Given the description of an element on the screen output the (x, y) to click on. 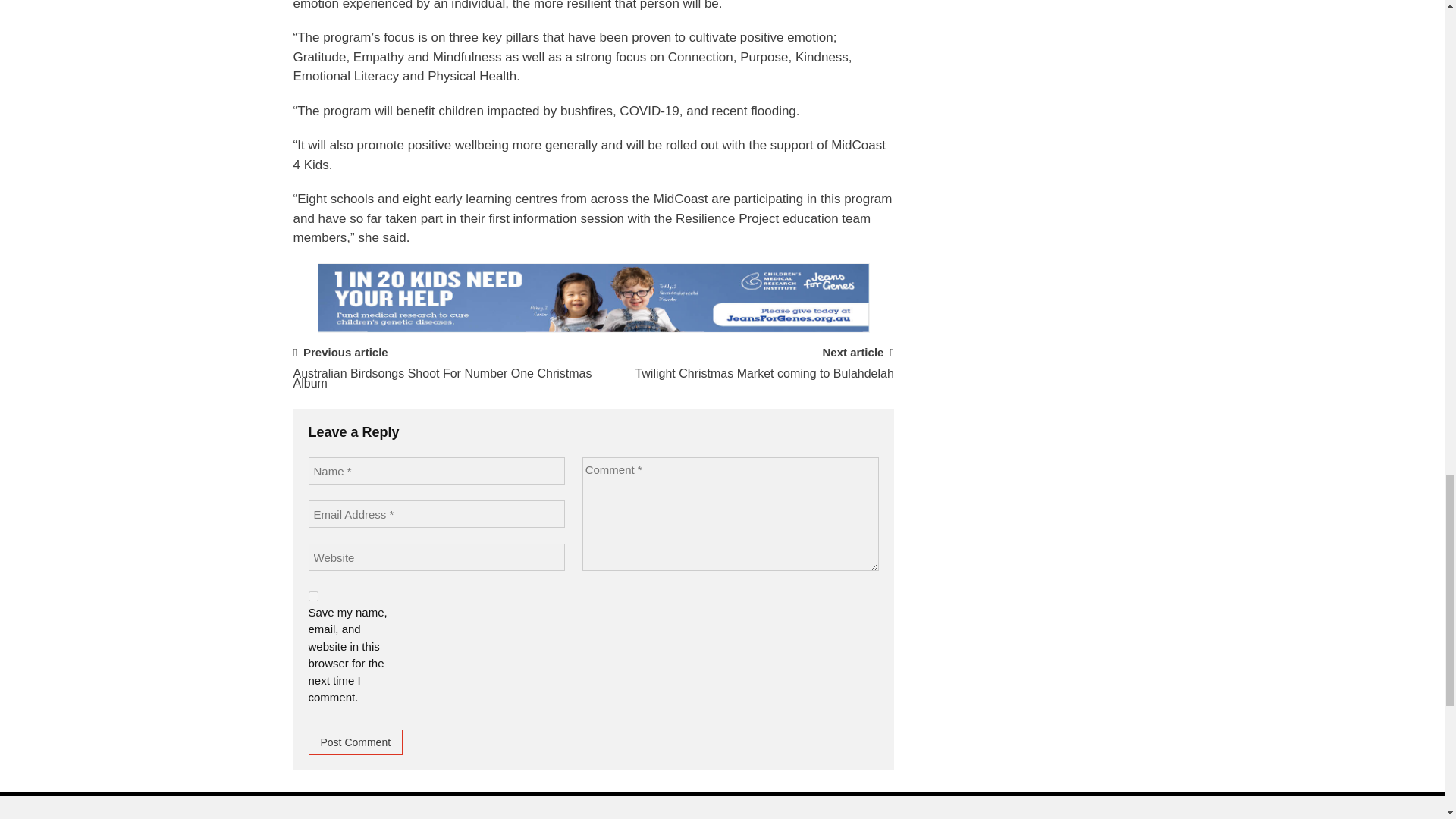
Post Comment (355, 741)
yes (312, 596)
